Given the description of an element on the screen output the (x, y) to click on. 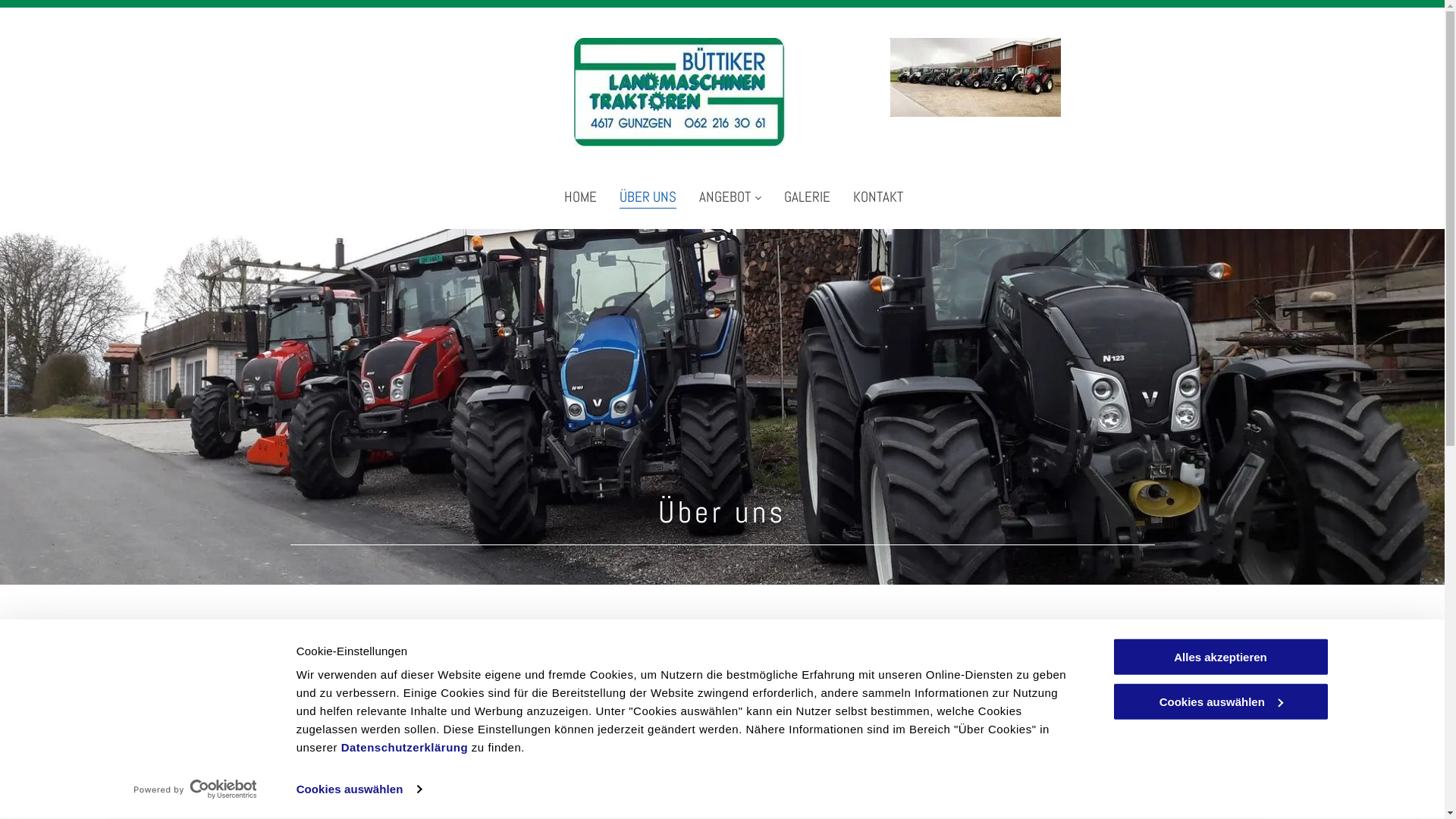
ANGEBOT Element type: text (730, 196)
Alles akzeptieren Element type: text (1219, 656)
GALERIE Element type: text (807, 196)
HOME Element type: text (580, 196)
KONTAKT Element type: text (878, 196)
